Given the description of an element on the screen output the (x, y) to click on. 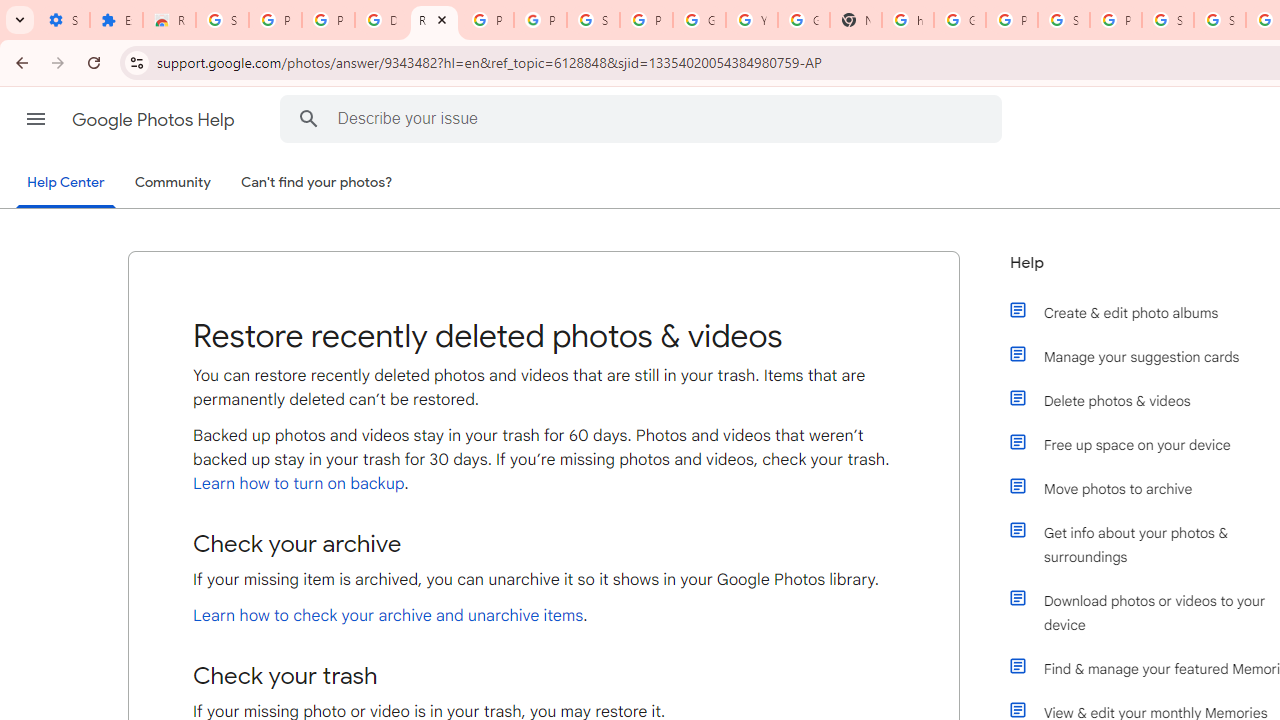
Main menu (35, 119)
Reviews: Helix Fruit Jump Arcade Game (169, 20)
Learn how to turn on backup (298, 483)
Google Photos Help (155, 119)
Describe your issue (644, 118)
Sign in - Google Accounts (1219, 20)
